Given the description of an element on the screen output the (x, y) to click on. 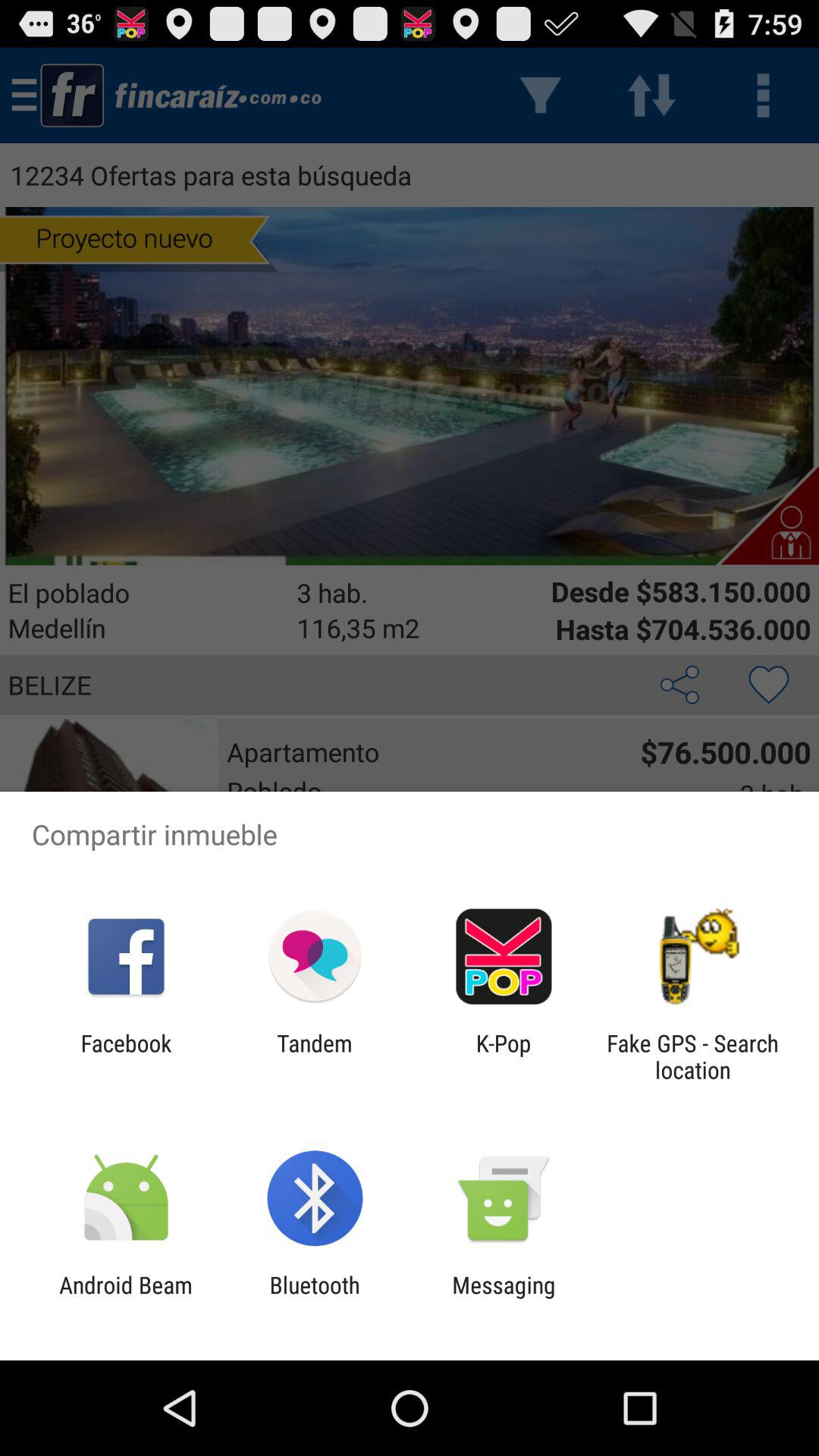
turn off the item to the left of the tandem item (125, 1056)
